Given the description of an element on the screen output the (x, y) to click on. 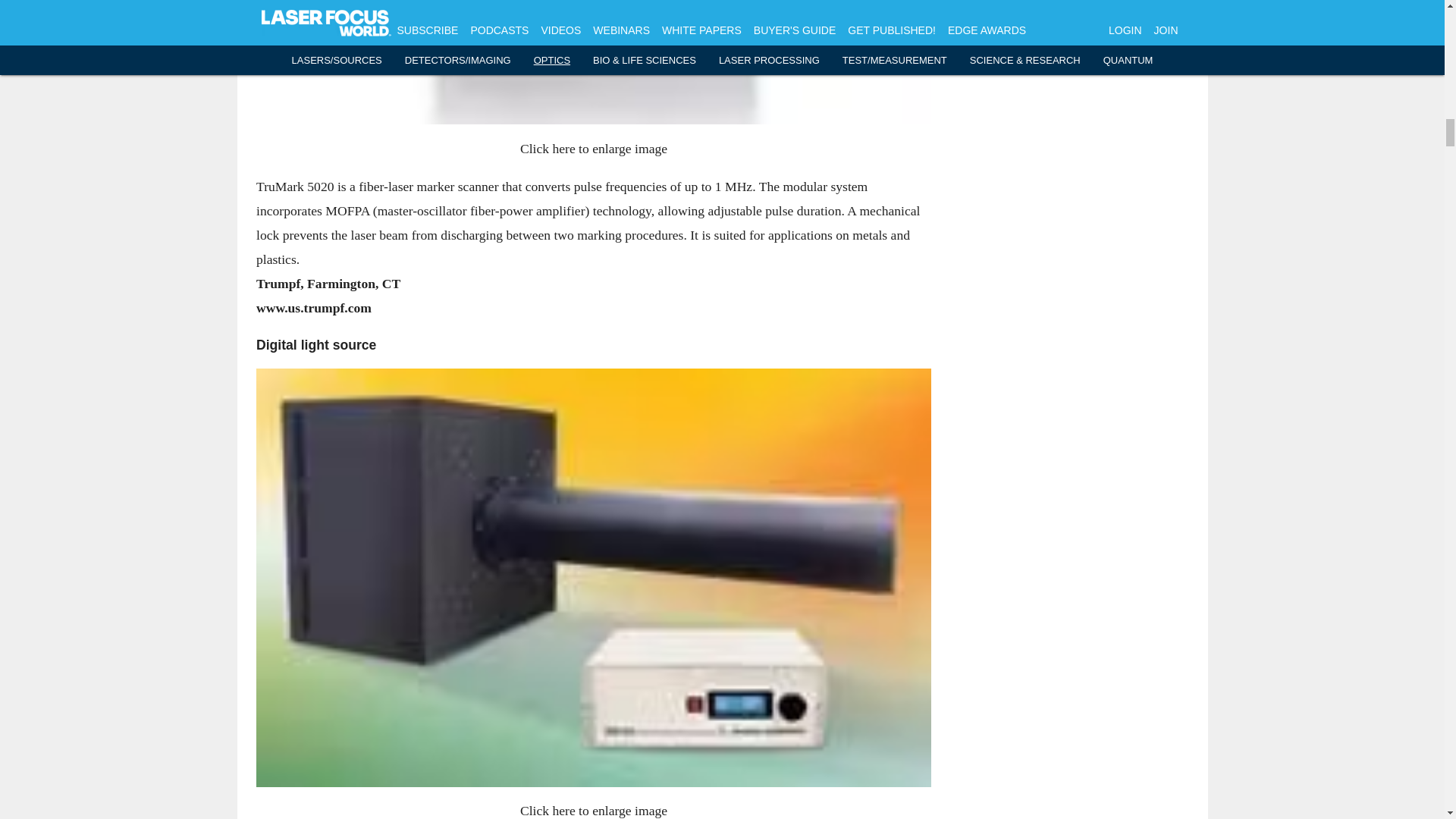
Th New Prod 1009 03 (593, 62)
